Given the description of an element on the screen output the (x, y) to click on. 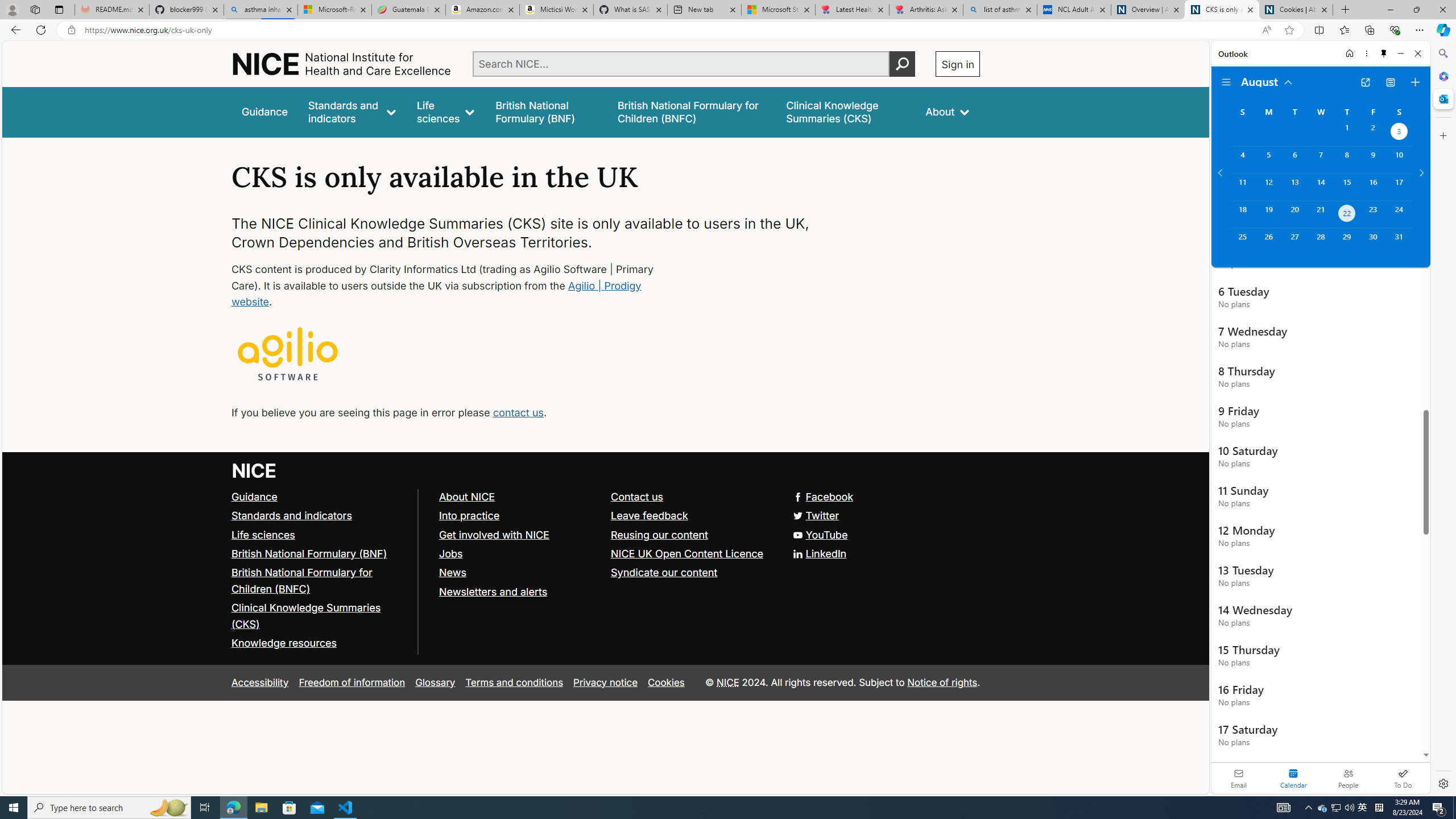
August (1267, 80)
Knowledge resources (283, 643)
Newsletters and alerts (518, 591)
Facebook (823, 496)
Monday, August 19, 2024.  (1268, 214)
